Given the description of an element on the screen output the (x, y) to click on. 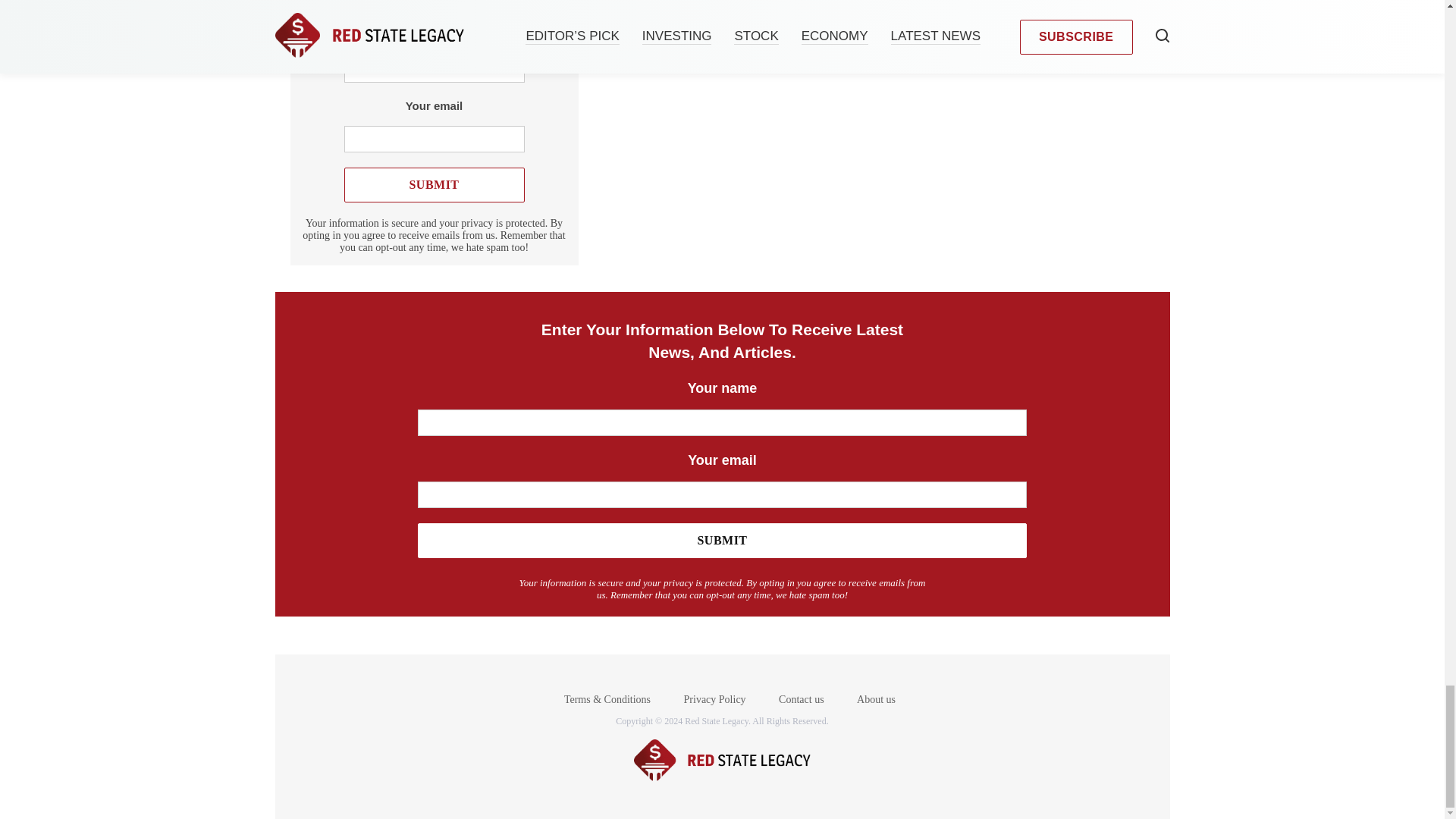
Submit (721, 540)
Submit (433, 184)
